Given the description of an element on the screen output the (x, y) to click on. 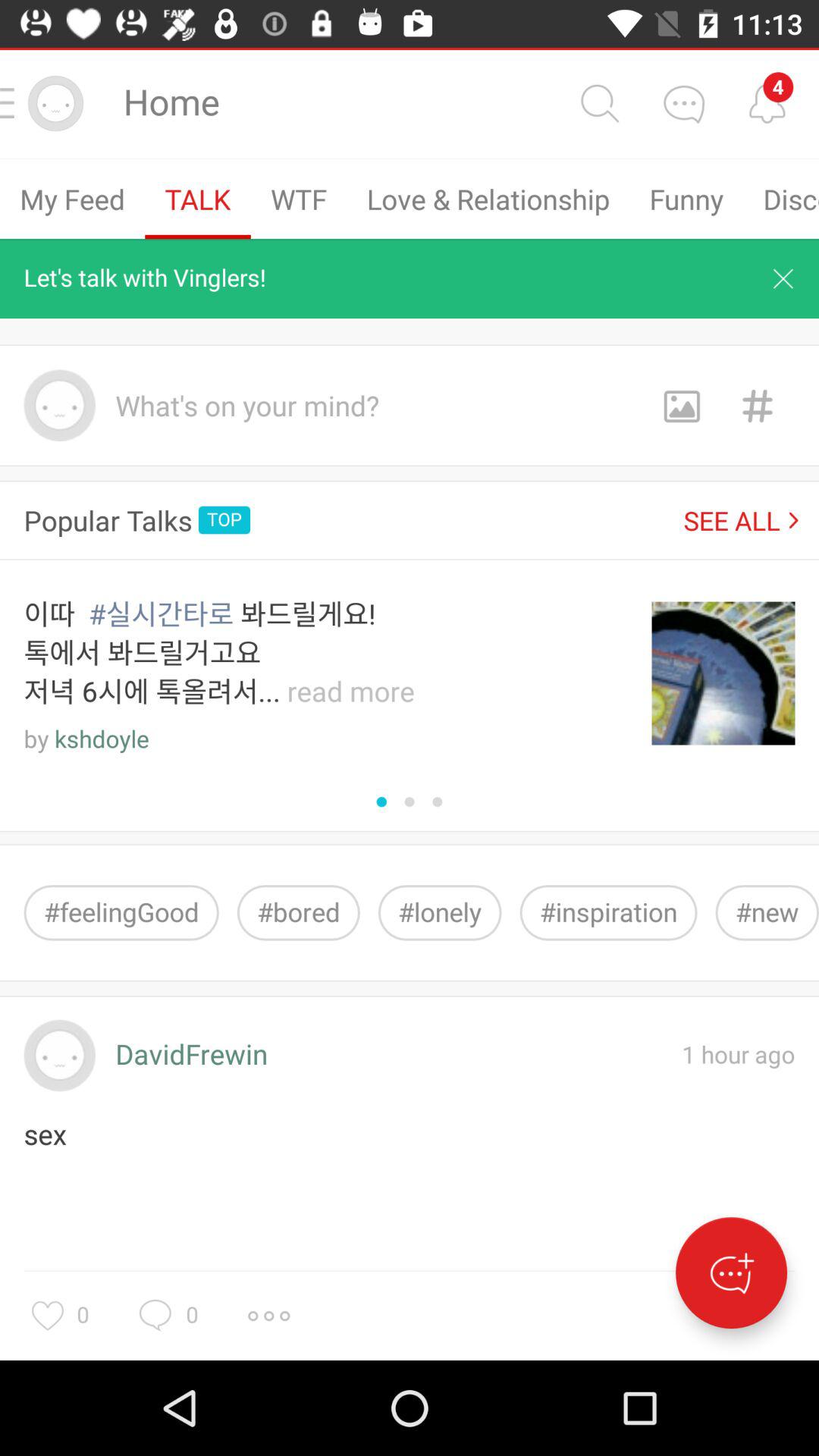
turn off item below 1 hour ago icon (731, 1272)
